Given the description of an element on the screen output the (x, y) to click on. 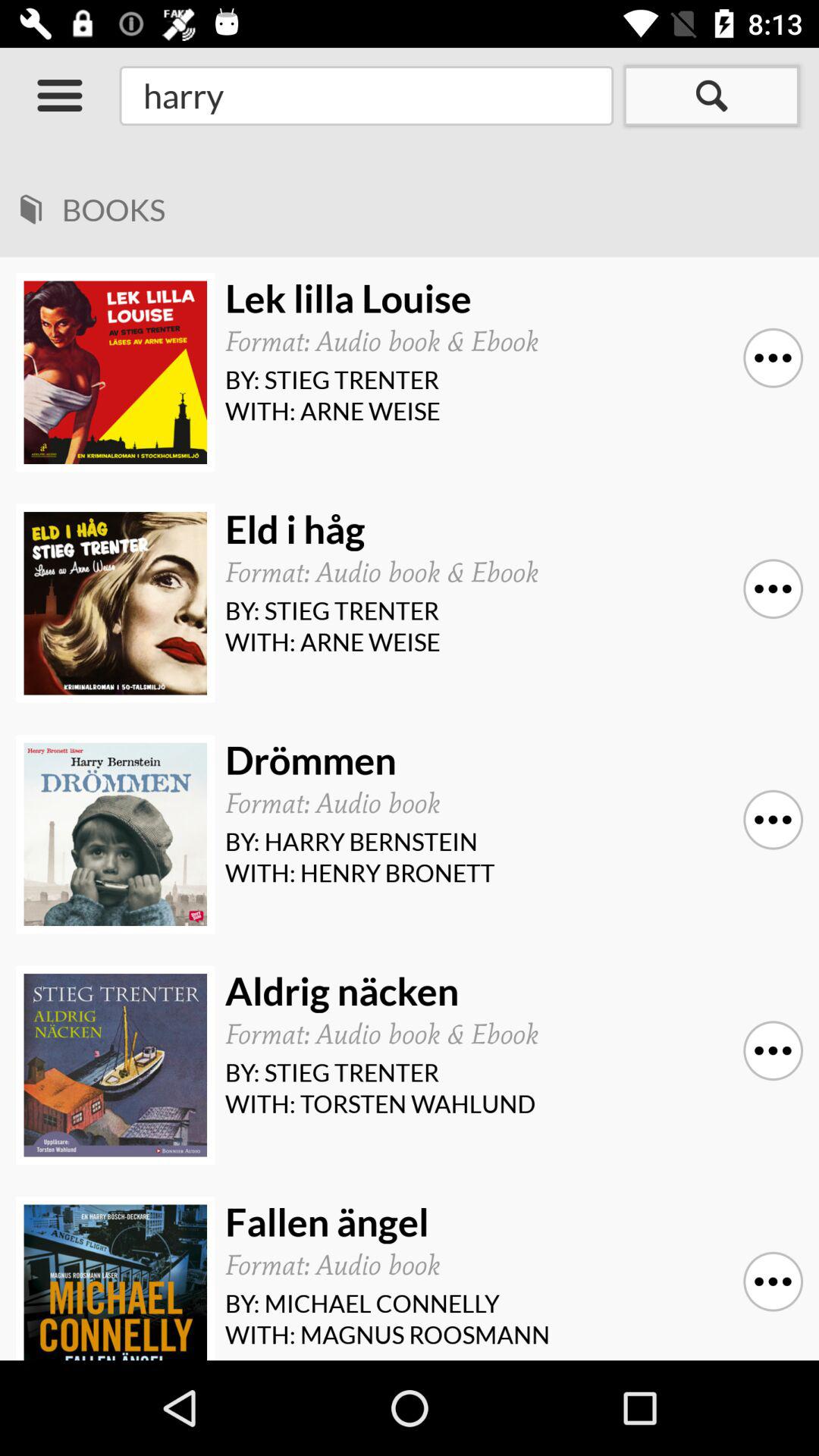
turn on item above with: henry bronett icon (773, 819)
